Given the description of an element on the screen output the (x, y) to click on. 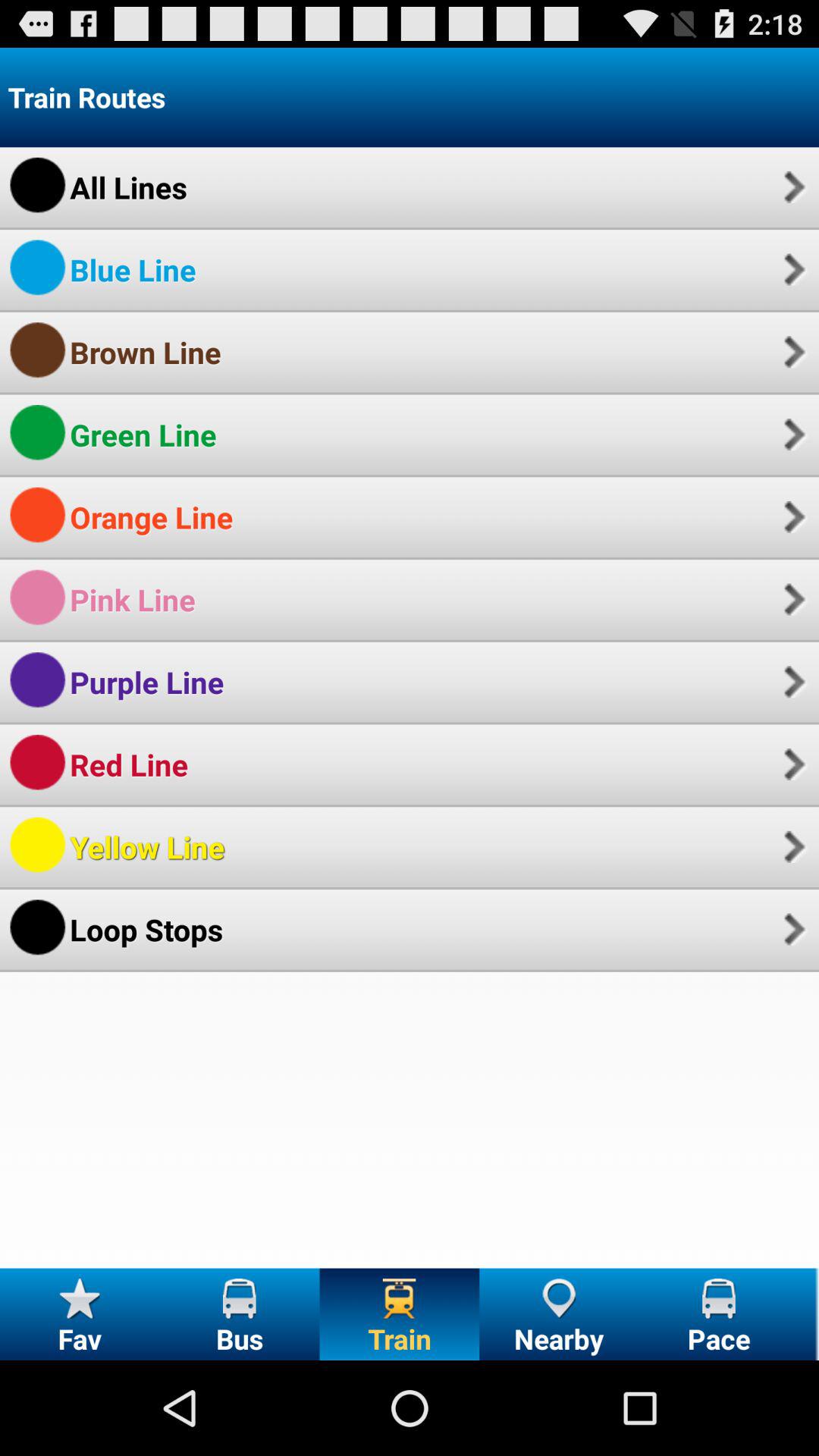
turn on item to the right of the brown line icon (792, 351)
